Given the description of an element on the screen output the (x, y) to click on. 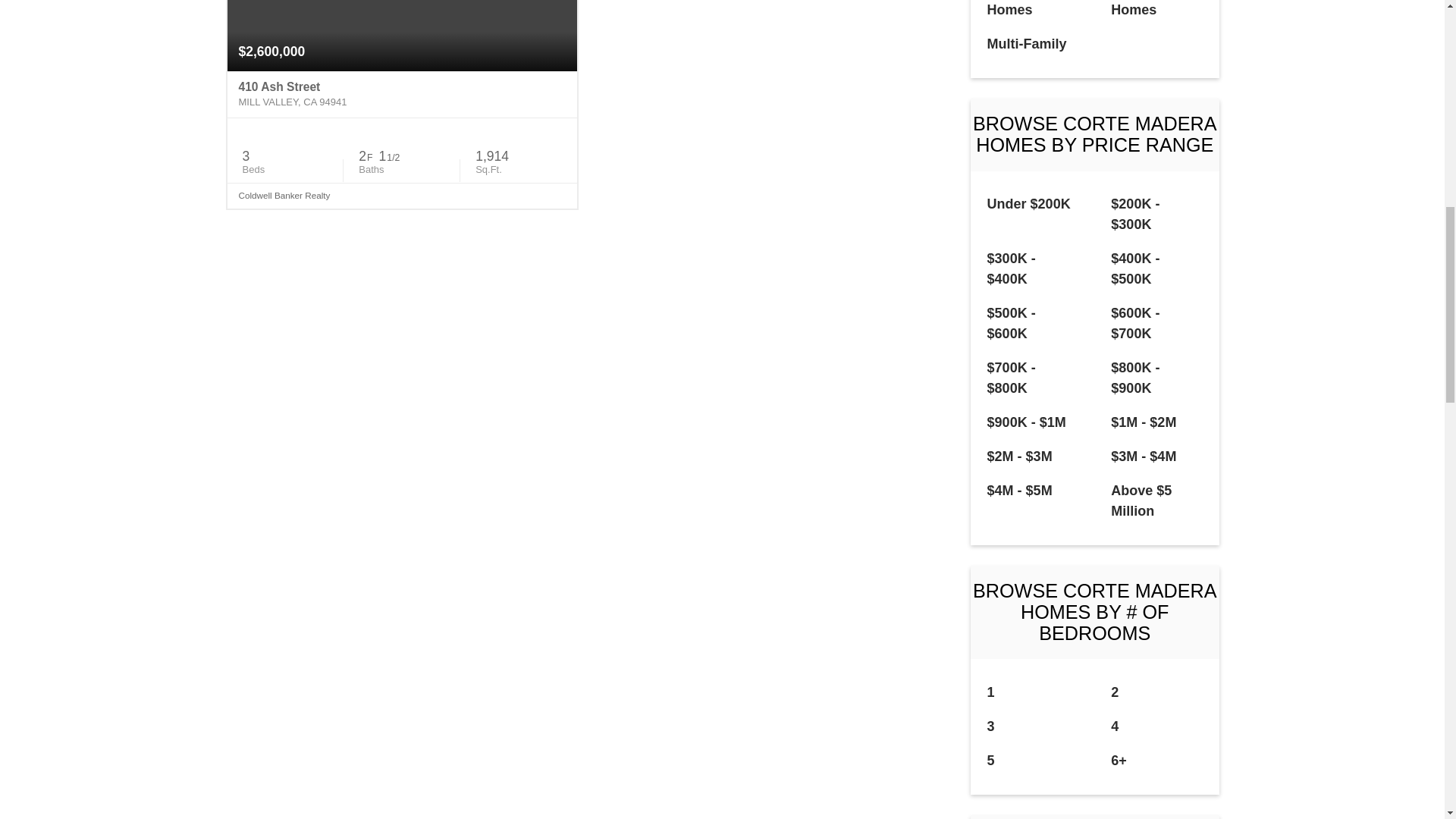
410 Ash Street Mill Valley,  CA 94941 (402, 94)
